Given the description of an element on the screen output the (x, y) to click on. 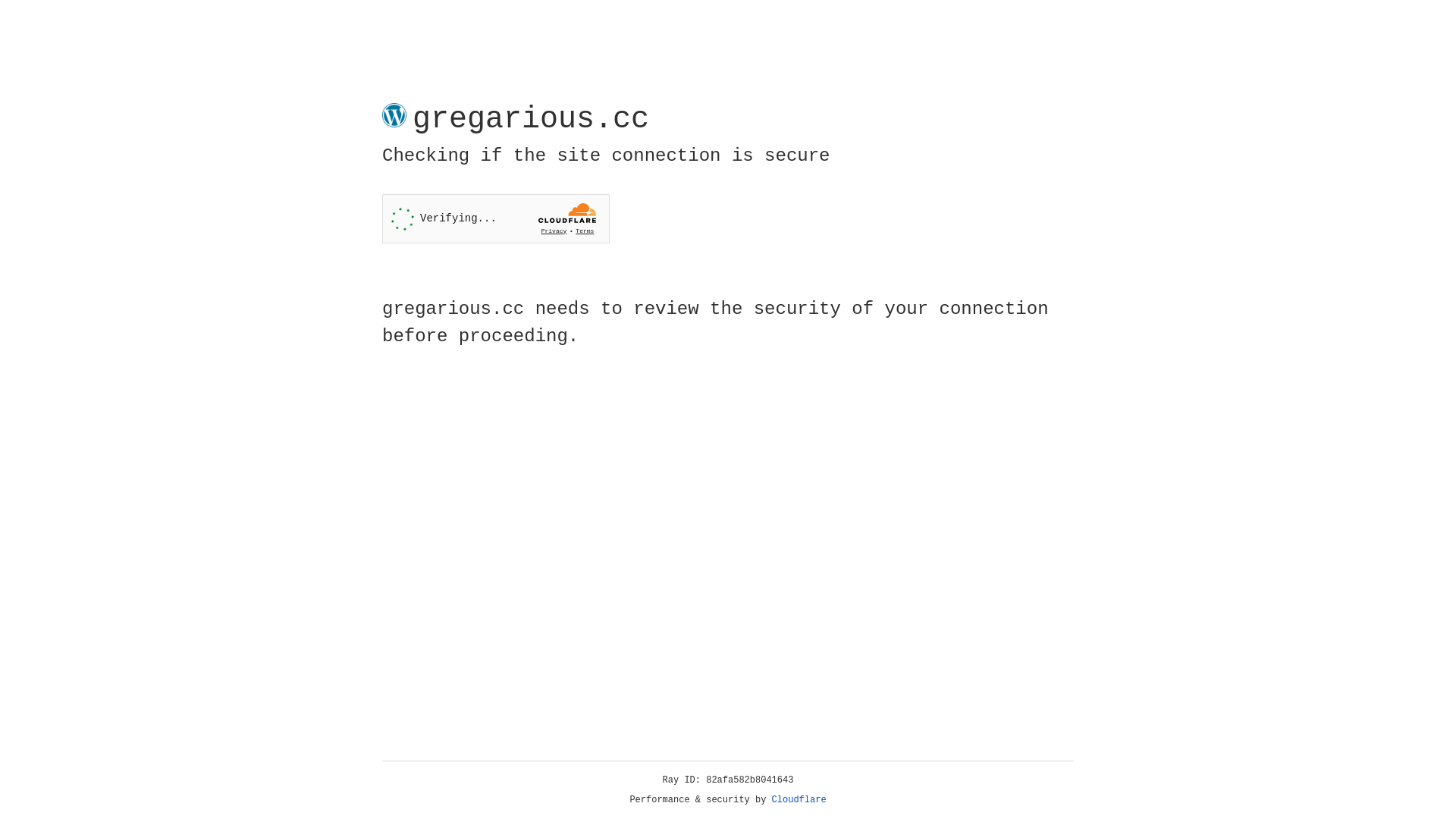
Widget containing a Cloudflare security challenge Element type: hover (495, 218)
Cloudflare Element type: text (798, 799)
